Given the description of an element on the screen output the (x, y) to click on. 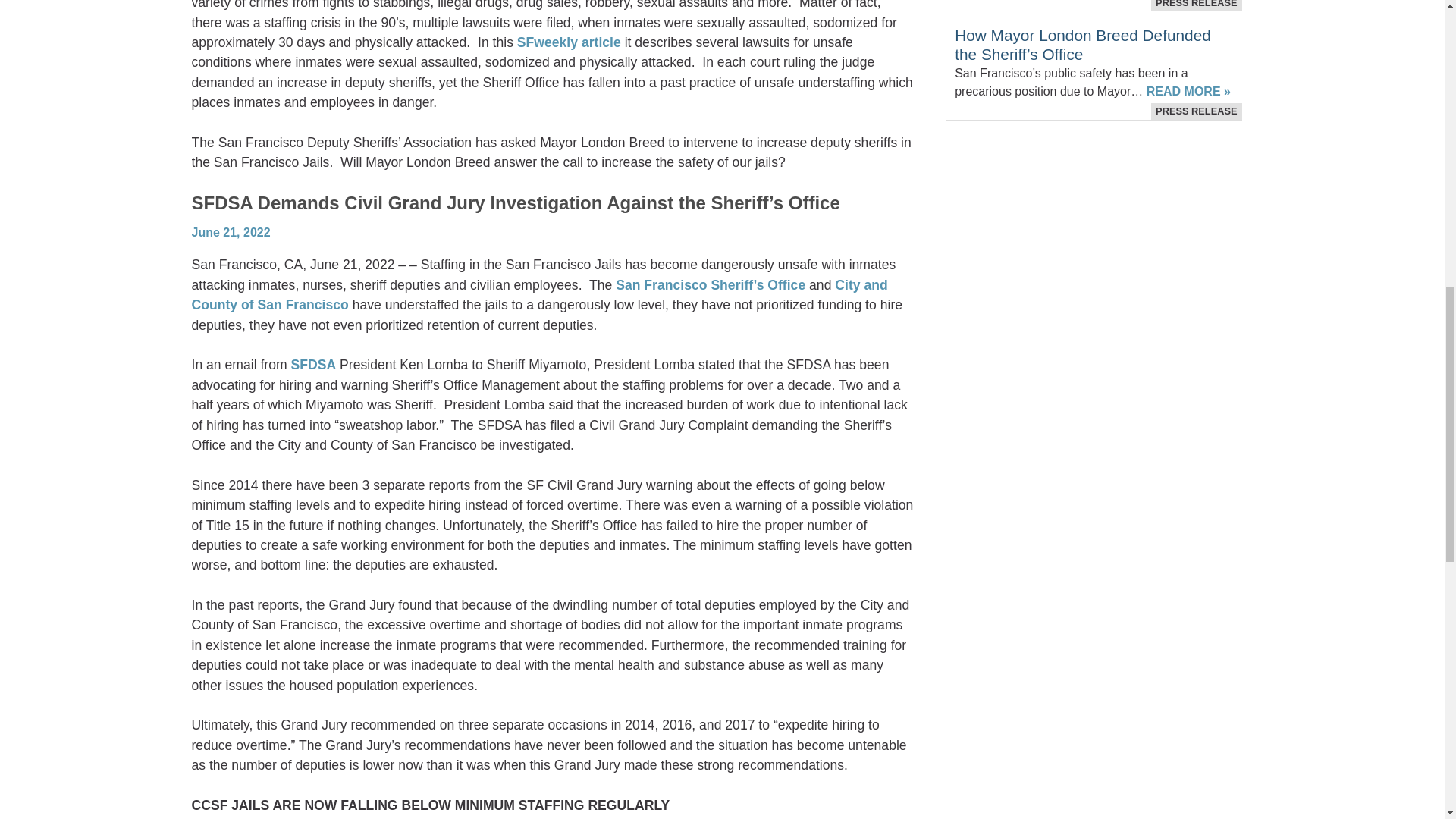
SFDSA (313, 364)
SFweekly article (568, 42)
June 21, 2022 (229, 232)
City and County of San Francisco (538, 294)
